Given the description of an element on the screen output the (x, y) to click on. 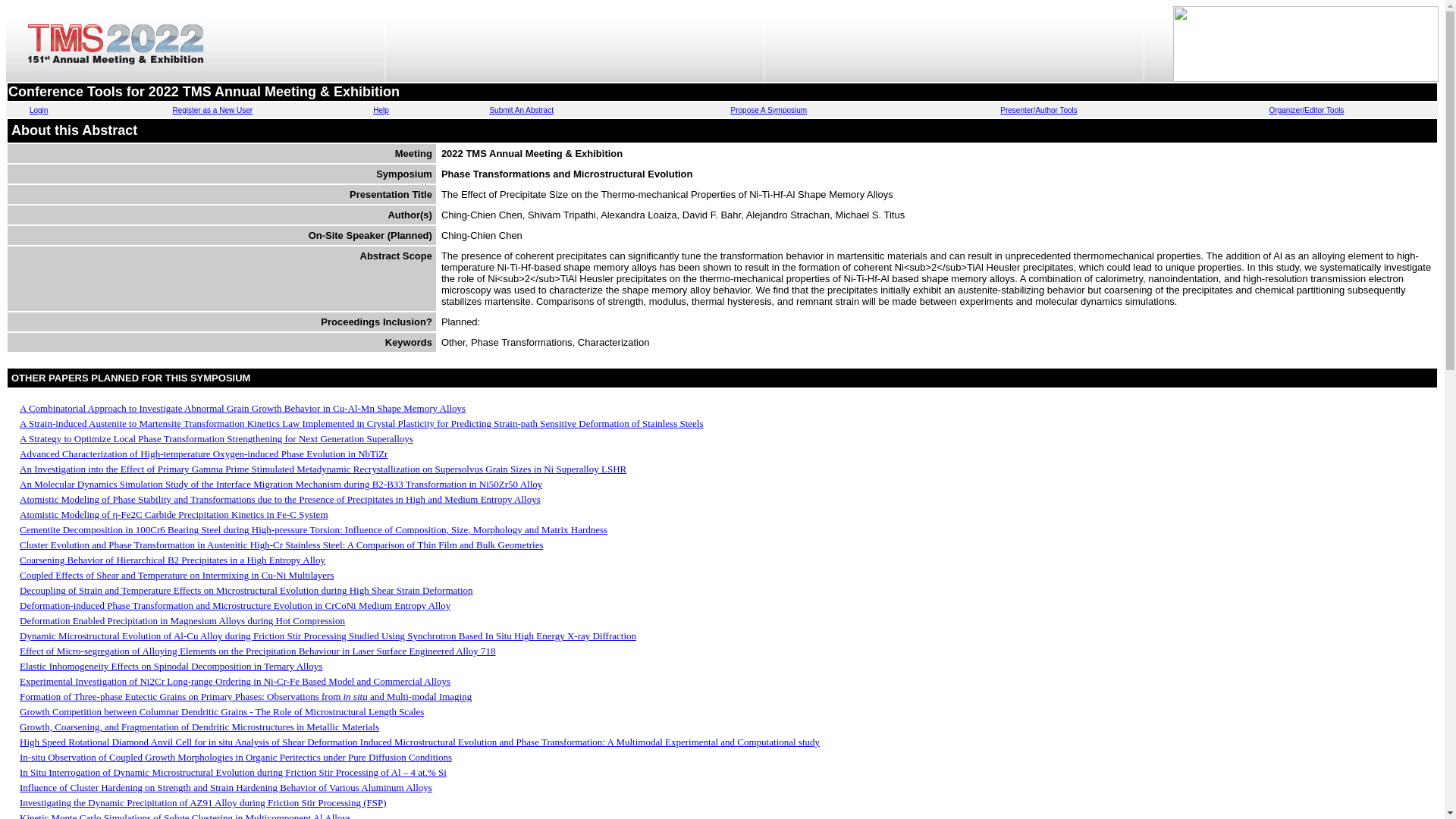
Help (380, 110)
